Given the description of an element on the screen output the (x, y) to click on. 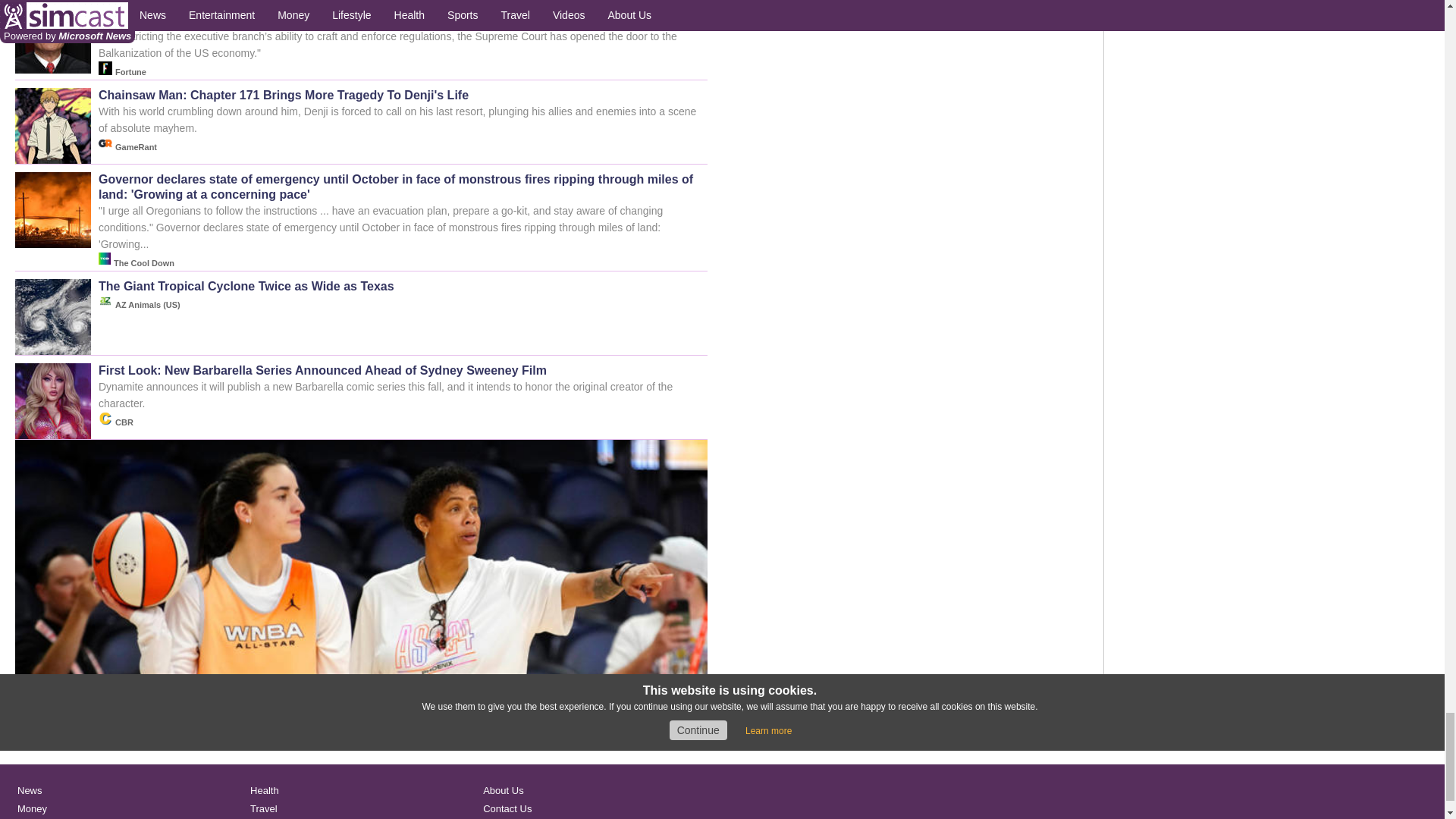
ESPN Makes Major Decision Regarding 2024 WNBA All-Star Game (360, 738)
